Given the description of an element on the screen output the (x, y) to click on. 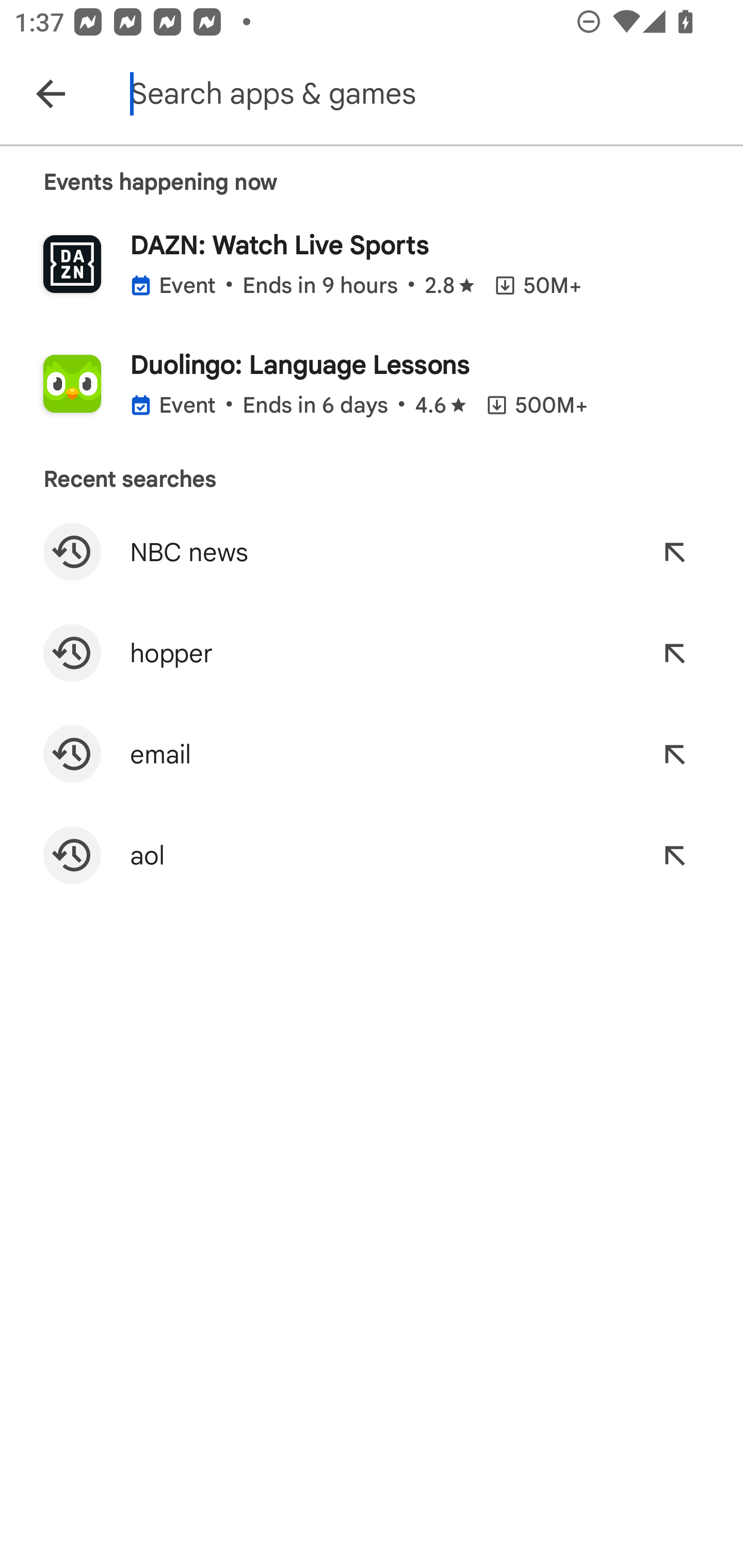
Navigate up (50, 93)
Search apps & games (432, 93)
Search for "NBC news"  Refine search to "NBC news" (371, 551)
Refine search to "NBC news" (673, 551)
Search for "hopper"  Refine search to "hopper" (371, 653)
Refine search to "hopper" (673, 653)
Search for "email"  Refine search to "email" (371, 754)
Refine search to "email" (673, 754)
Search for "aol"  Refine search to "aol" (371, 855)
Refine search to "aol" (673, 855)
